Given the description of an element on the screen output the (x, y) to click on. 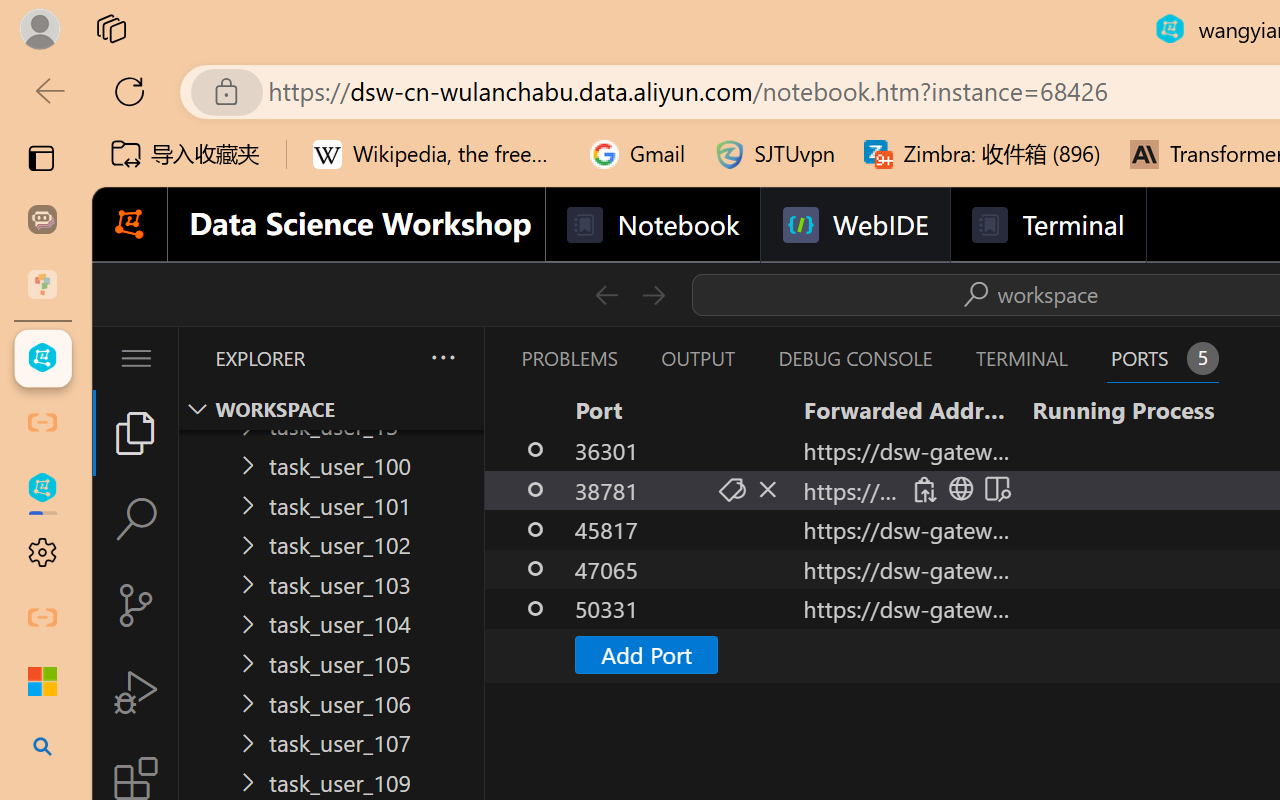
Class: actions-container (958, 489)
Go Back (Alt+LeftArrow) (605, 294)
Go Forward (Alt+RightArrow) (652, 294)
Open in Browser (958, 489)
Notebook (652, 225)
Application Menu (135, 358)
Debug Console (Ctrl+Shift+Y) (854, 358)
Copy Local Address (Ctrl+C) (923, 489)
Output (Ctrl+Shift+U) (696, 358)
Explorer (Ctrl+Shift+E) (135, 432)
Explorer actions (390, 358)
